Given the description of an element on the screen output the (x, y) to click on. 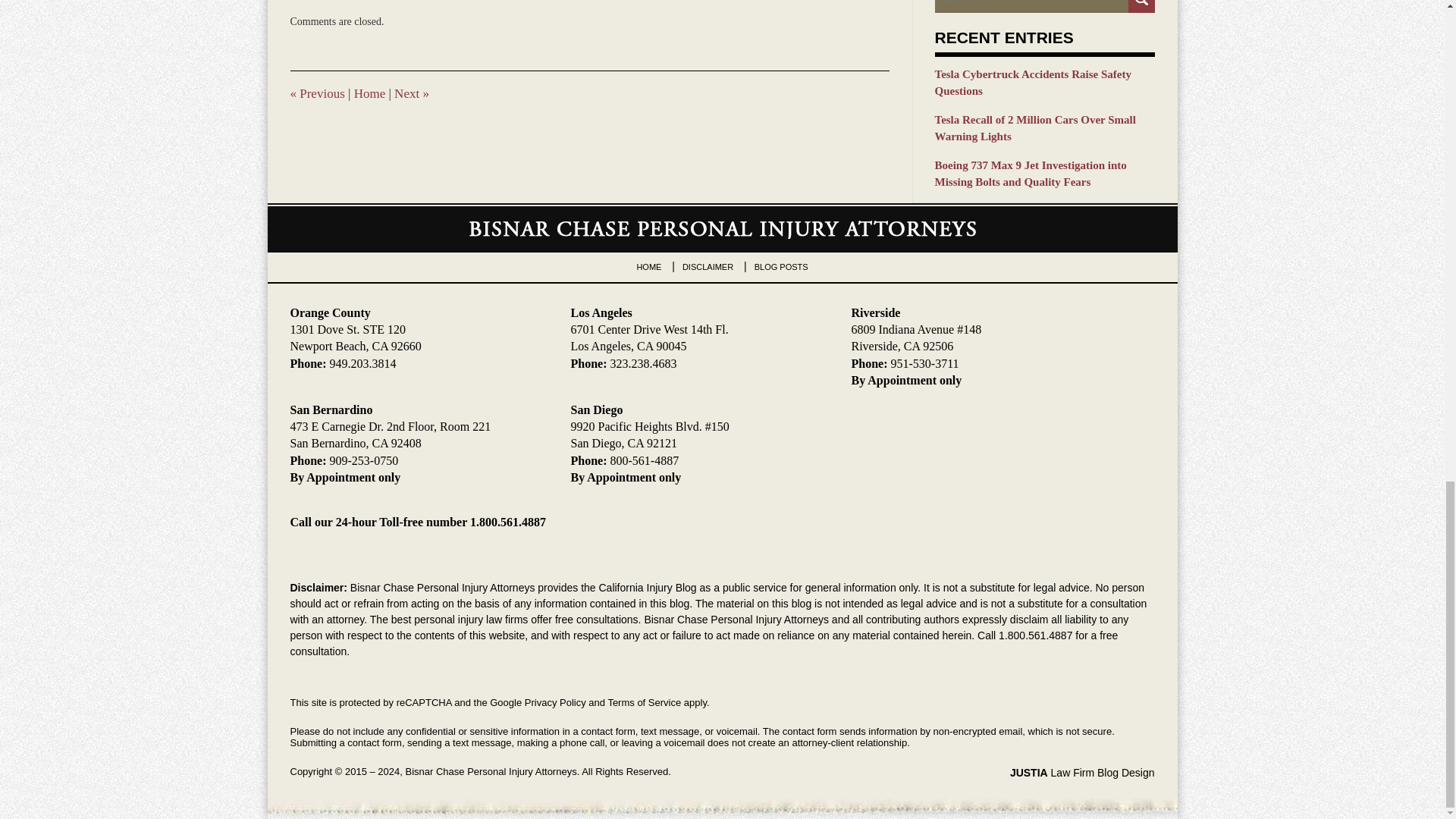
Home (369, 93)
Tesla Cybertruck Accidents Raise Safety Questions (1044, 82)
Man Killed in Car Accident at Dangerous Gilroy Intersection (411, 93)
Tesla Recall of 2 Million Cars Over Small Warning Lights (1044, 128)
SEARCH (1141, 6)
The difference between DUI, DWI, OUI and OWI (316, 93)
